Given the description of an element on the screen output the (x, y) to click on. 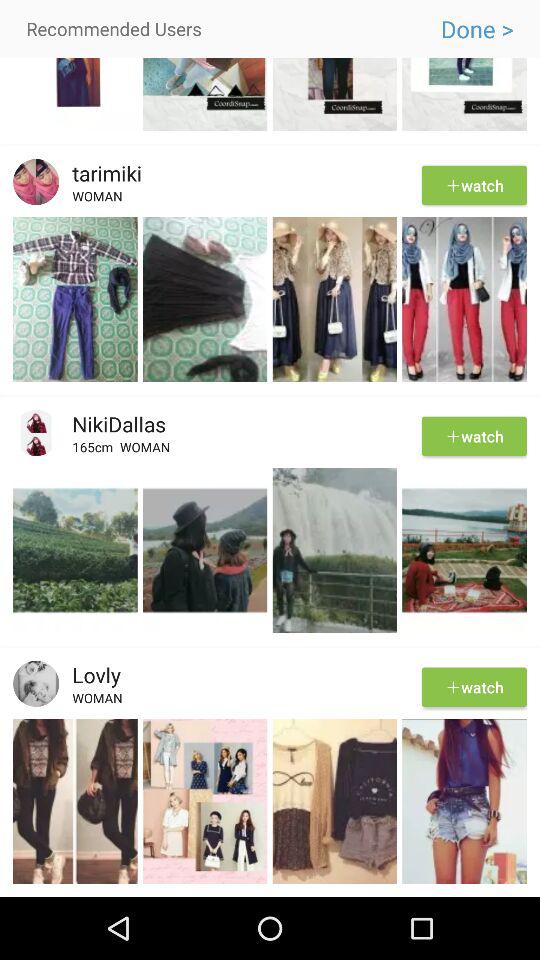
choose the item below woman icon (269, 715)
